Given the description of an element on the screen output the (x, y) to click on. 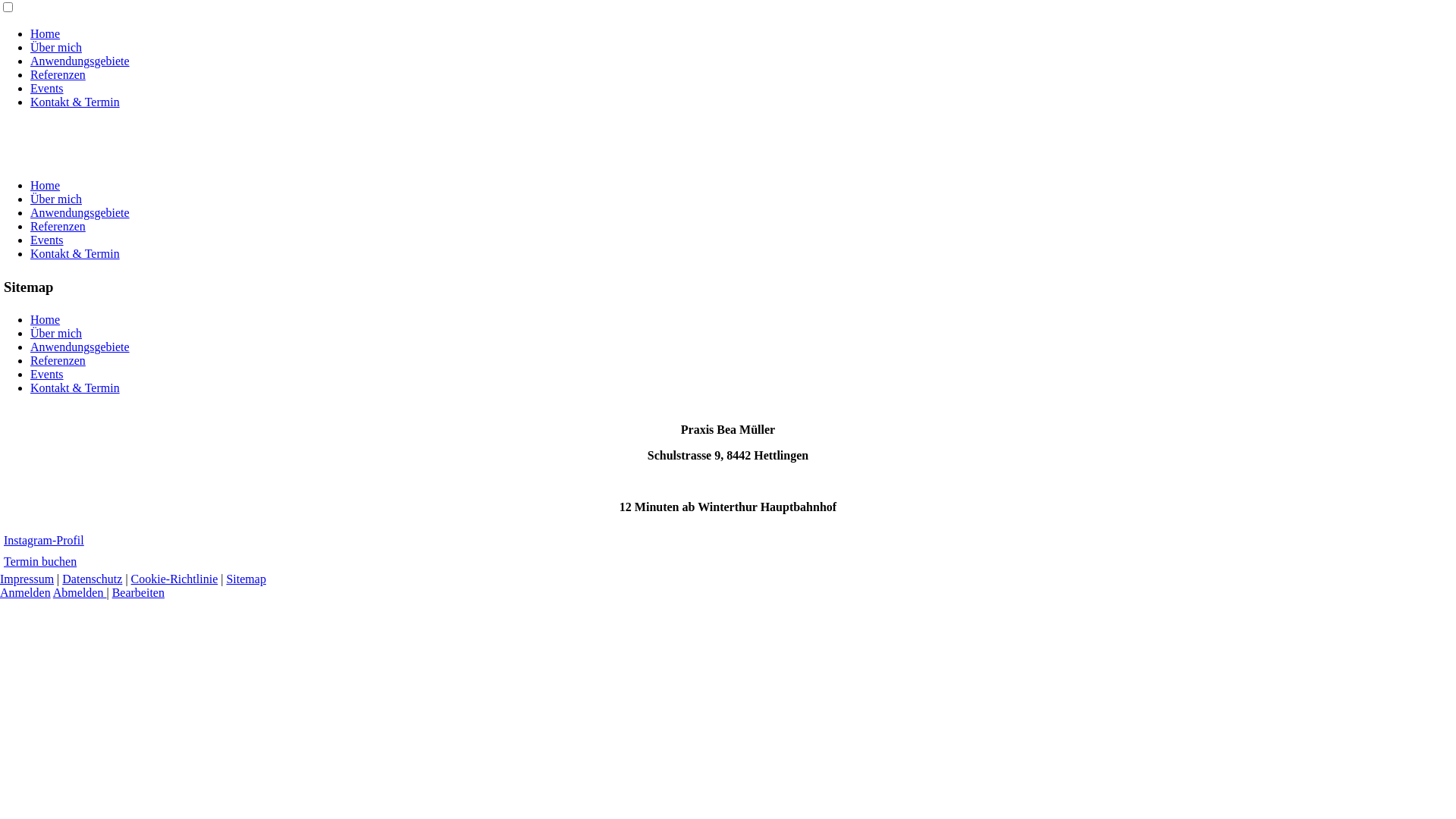
Sitemap Element type: text (245, 578)
Anwendungsgebiete Element type: text (79, 212)
Referenzen Element type: text (57, 74)
Events Element type: text (46, 239)
Home Element type: text (44, 184)
Anmelden Element type: text (25, 592)
Referenzen Element type: text (57, 225)
Bearbeiten Element type: text (138, 592)
Events Element type: text (46, 373)
Kontakt & Termin Element type: text (74, 253)
Datenschutz Element type: text (92, 578)
Events Element type: text (46, 87)
Kontakt & Termin Element type: text (74, 387)
Home Element type: text (44, 319)
Impressum Element type: text (26, 578)
Kontakt & Termin Element type: text (74, 101)
Cookie-Richtlinie Element type: text (174, 578)
Home Element type: text (44, 33)
Abmelden Element type: text (79, 592)
Termin buchen Element type: text (39, 561)
Anwendungsgebiete Element type: text (79, 346)
Instagram-Profil Element type: text (43, 539)
Anwendungsgebiete Element type: text (79, 60)
Referenzen Element type: text (57, 360)
